Given the description of an element on the screen output the (x, y) to click on. 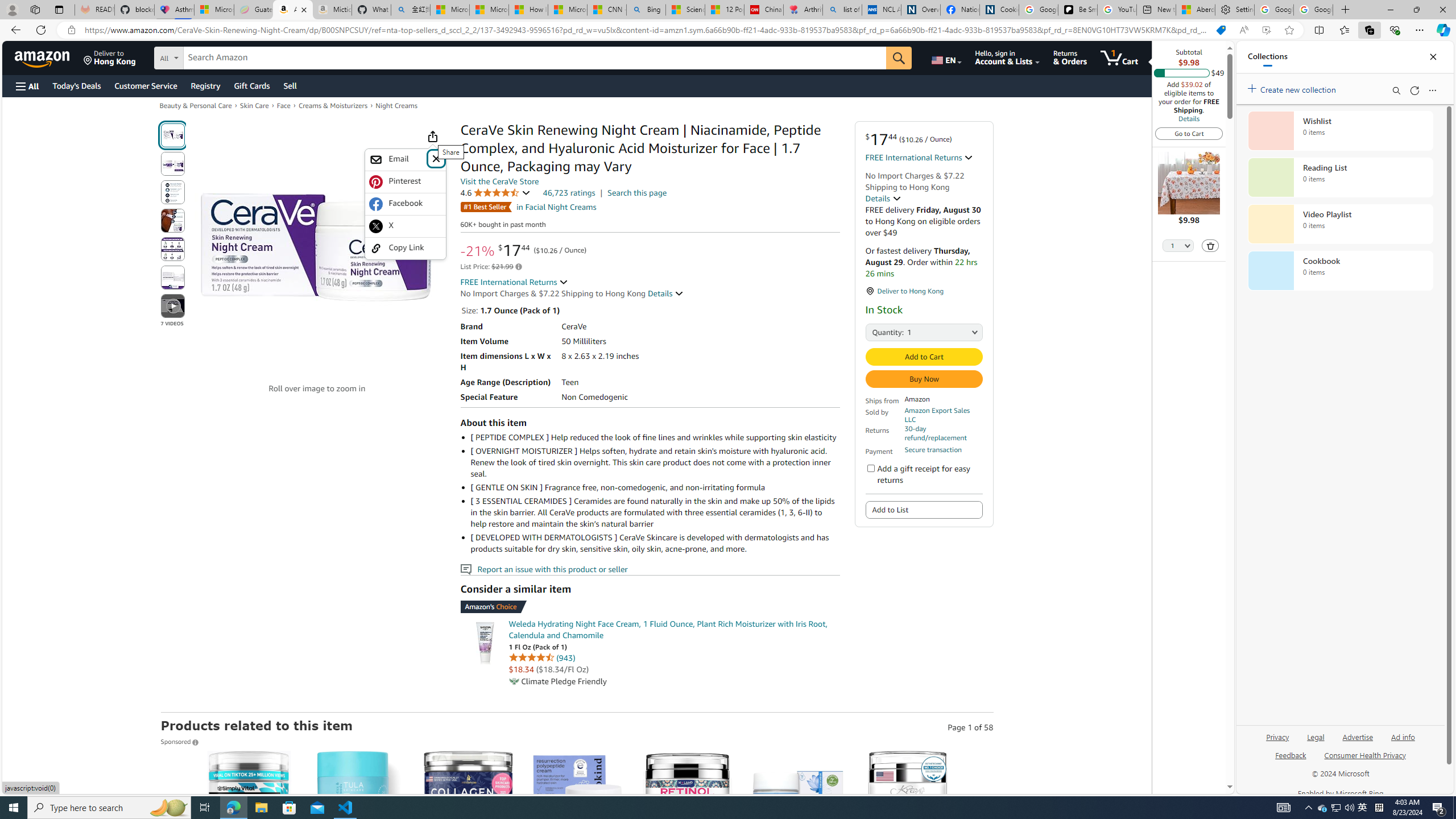
Wishlist collection, 0 items (1339, 130)
